Given the description of an element on the screen output the (x, y) to click on. 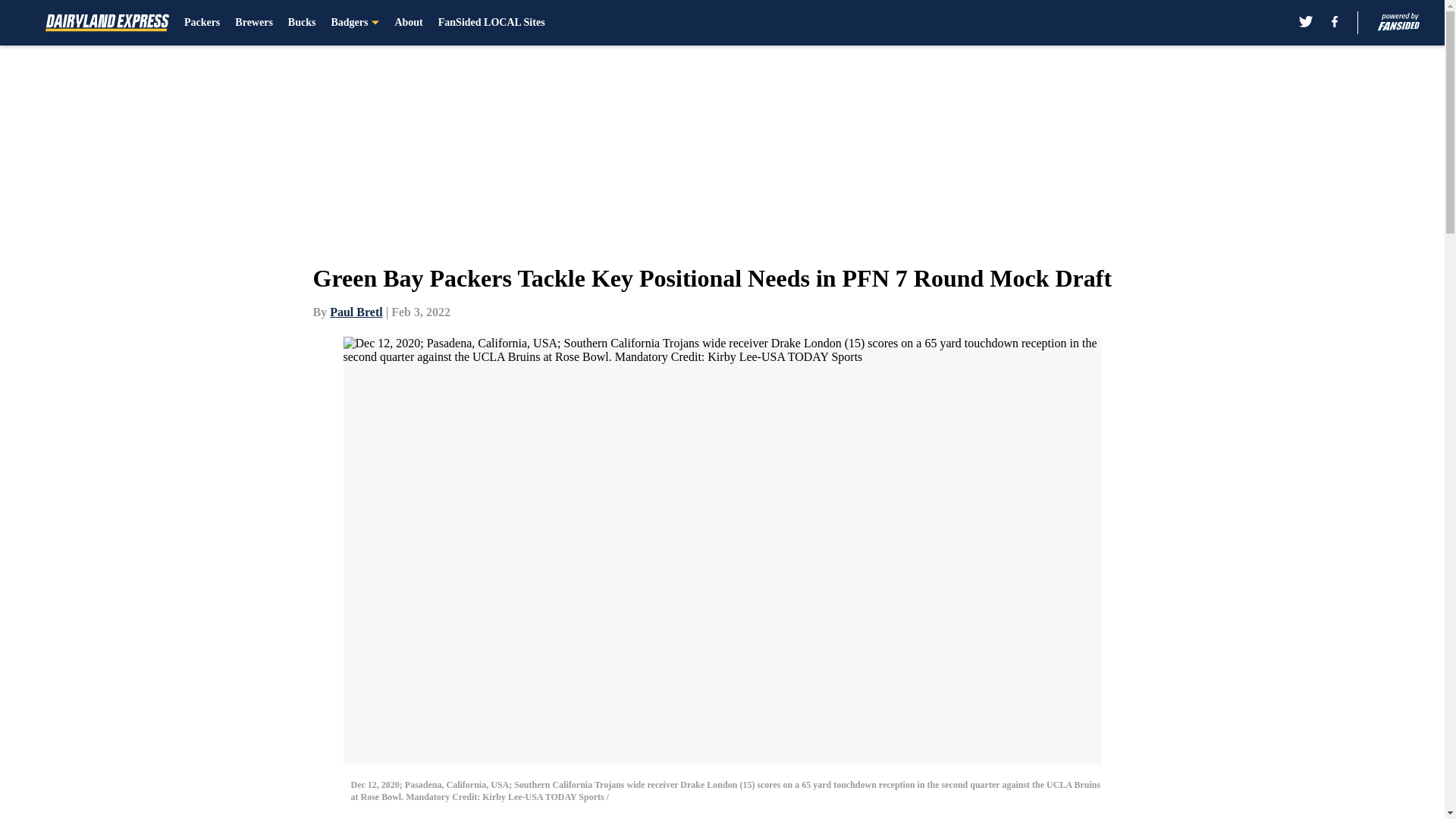
Brewers (253, 22)
Paul Bretl (355, 311)
Packers (201, 22)
Bucks (301, 22)
About (408, 22)
FanSided LOCAL Sites (491, 22)
